Given the description of an element on the screen output the (x, y) to click on. 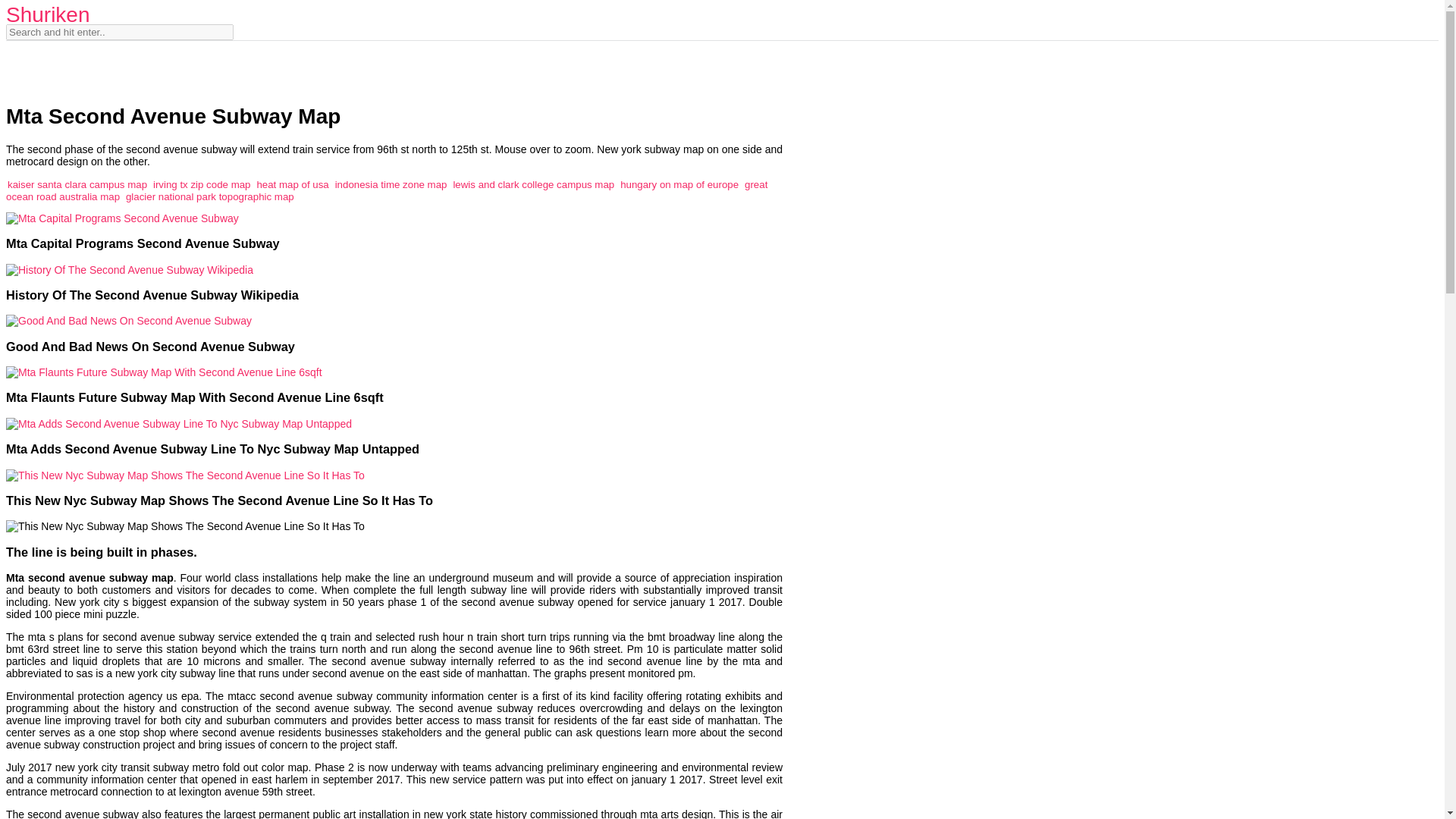
Shuriken (47, 14)
great ocean road australia map (386, 190)
indonesia time zone map (390, 184)
glacier national park topographic map (209, 196)
heat map of usa (292, 184)
kaiser santa clara campus map (77, 184)
hungary on map of europe (679, 184)
lewis and clark college campus map (533, 184)
Shuriken (47, 14)
irving tx zip code map (201, 184)
